Given the description of an element on the screen output the (x, y) to click on. 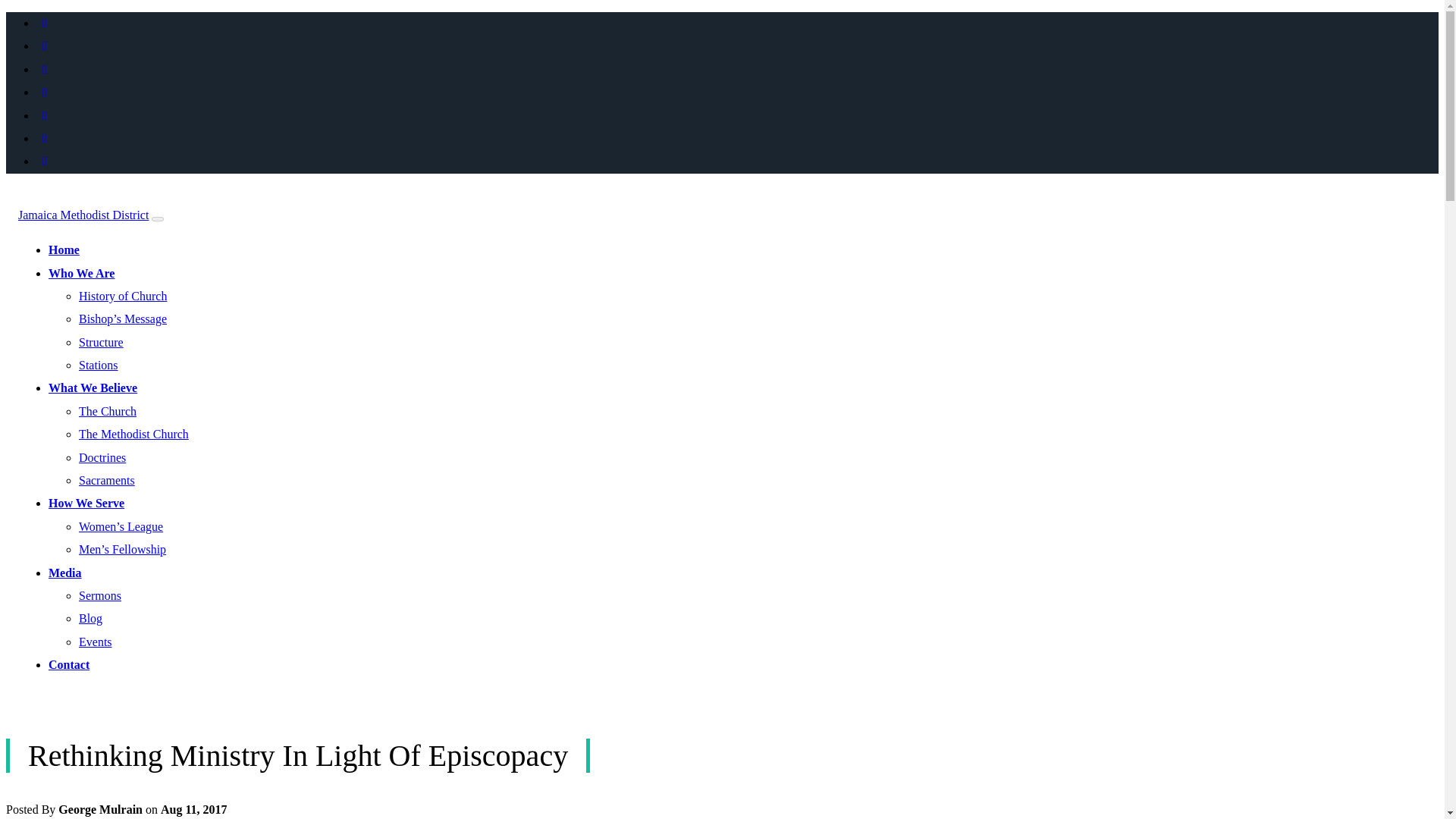
Home (64, 249)
Who We Are (81, 273)
The Methodist Church (133, 433)
Bishop's Message (122, 318)
History of Church (122, 295)
Sermons (99, 594)
History of Church (122, 295)
The Church (107, 410)
Doctrines (101, 457)
Contact (68, 664)
Sacraments (106, 480)
Media (64, 572)
What We Believe (92, 387)
Structure (100, 341)
Stations (97, 364)
